Given the description of an element on the screen output the (x, y) to click on. 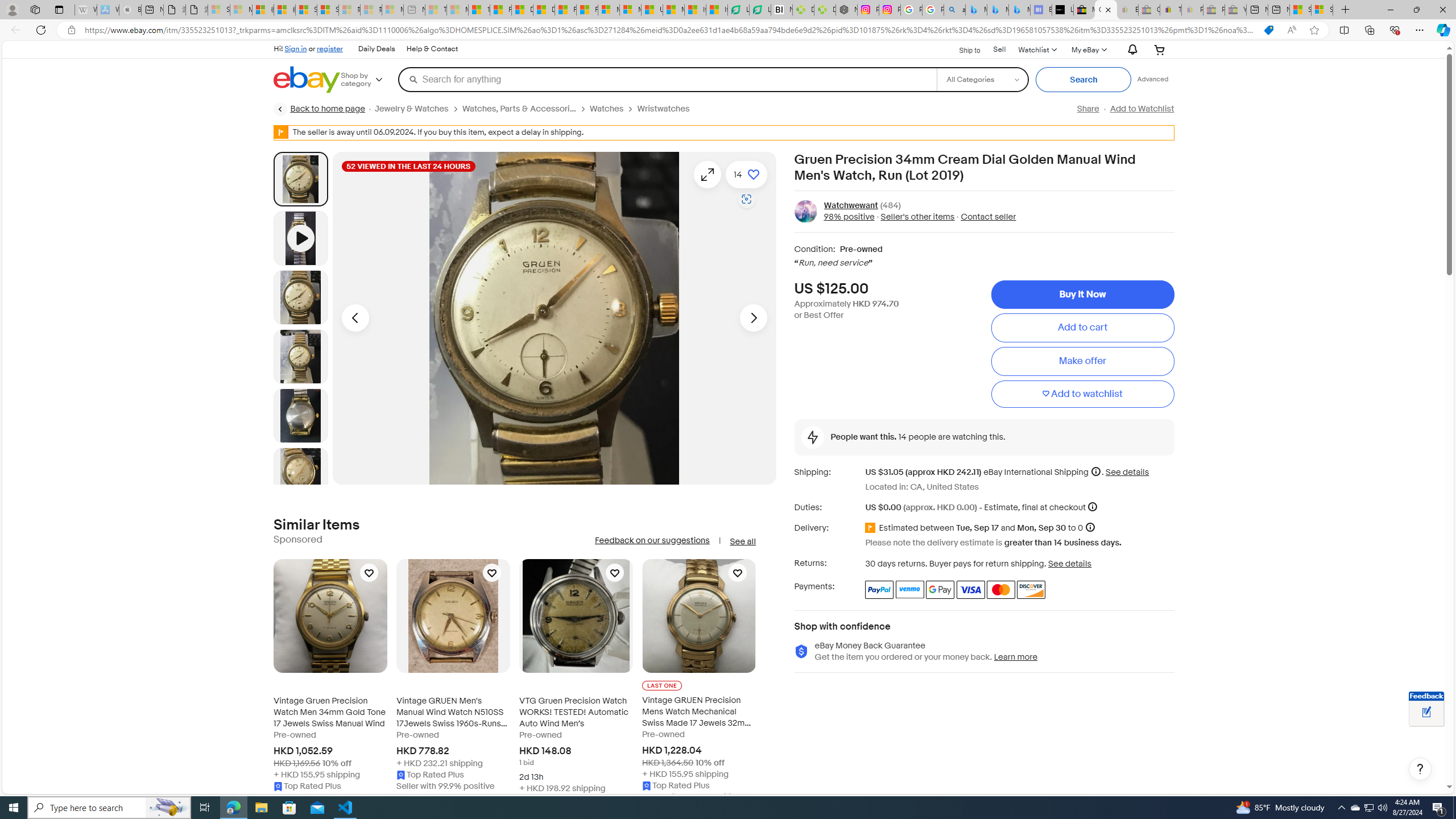
Wristwatches (667, 108)
Share (1087, 108)
Back to home page (319, 109)
  Contact seller (984, 216)
eBay Home (306, 79)
Nvidia va a poner a prueba la paciencia de los inversores (781, 9)
Previous image - Item images thumbnails (354, 318)
Delivery alert flag (871, 528)
Picture 4 of 13 (300, 415)
